Given the description of an element on the screen output the (x, y) to click on. 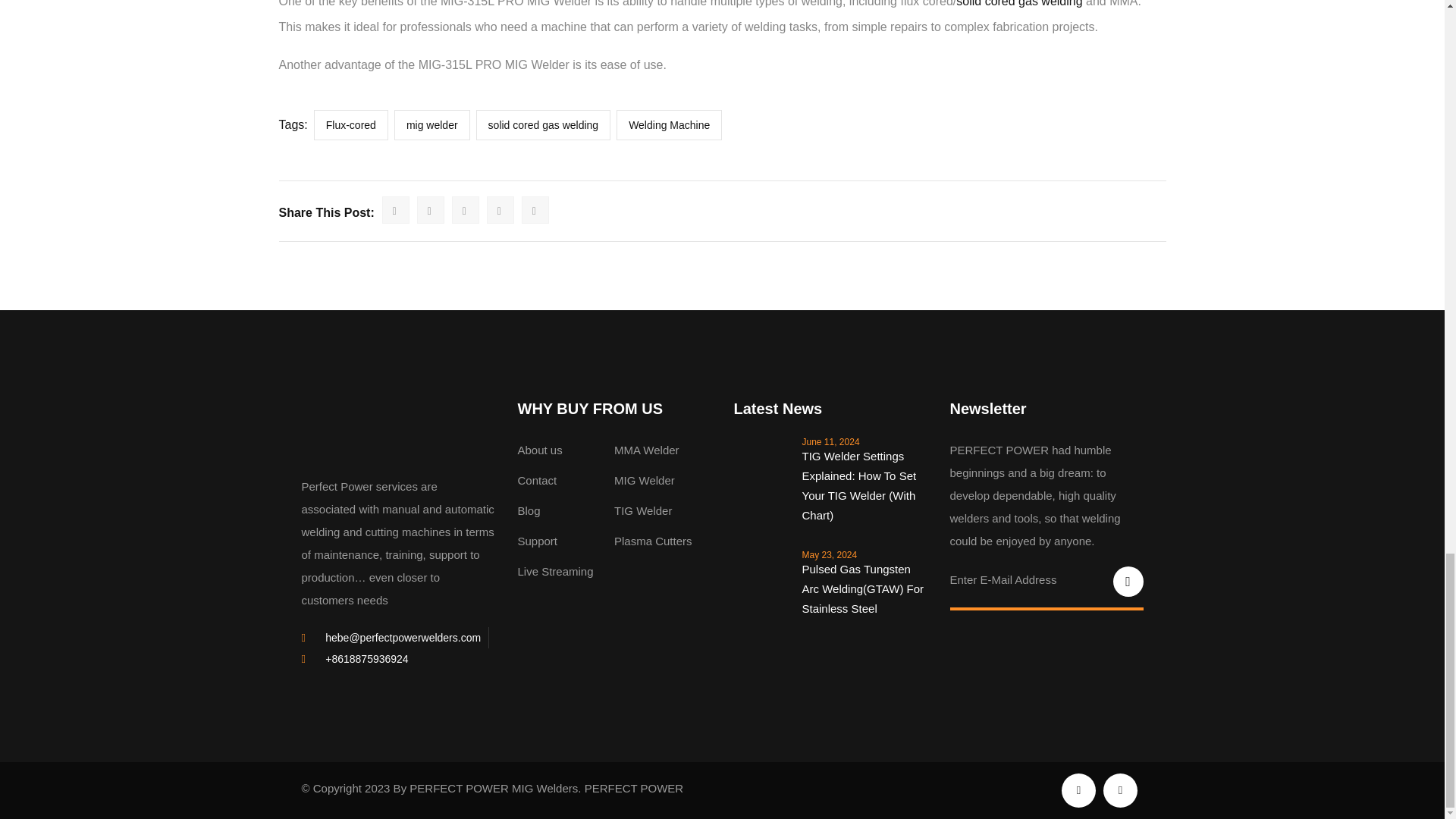
Home (356, 430)
View all posts in solid cored gas welding (1018, 3)
Subscribe (1127, 581)
